Given the description of an element on the screen output the (x, y) to click on. 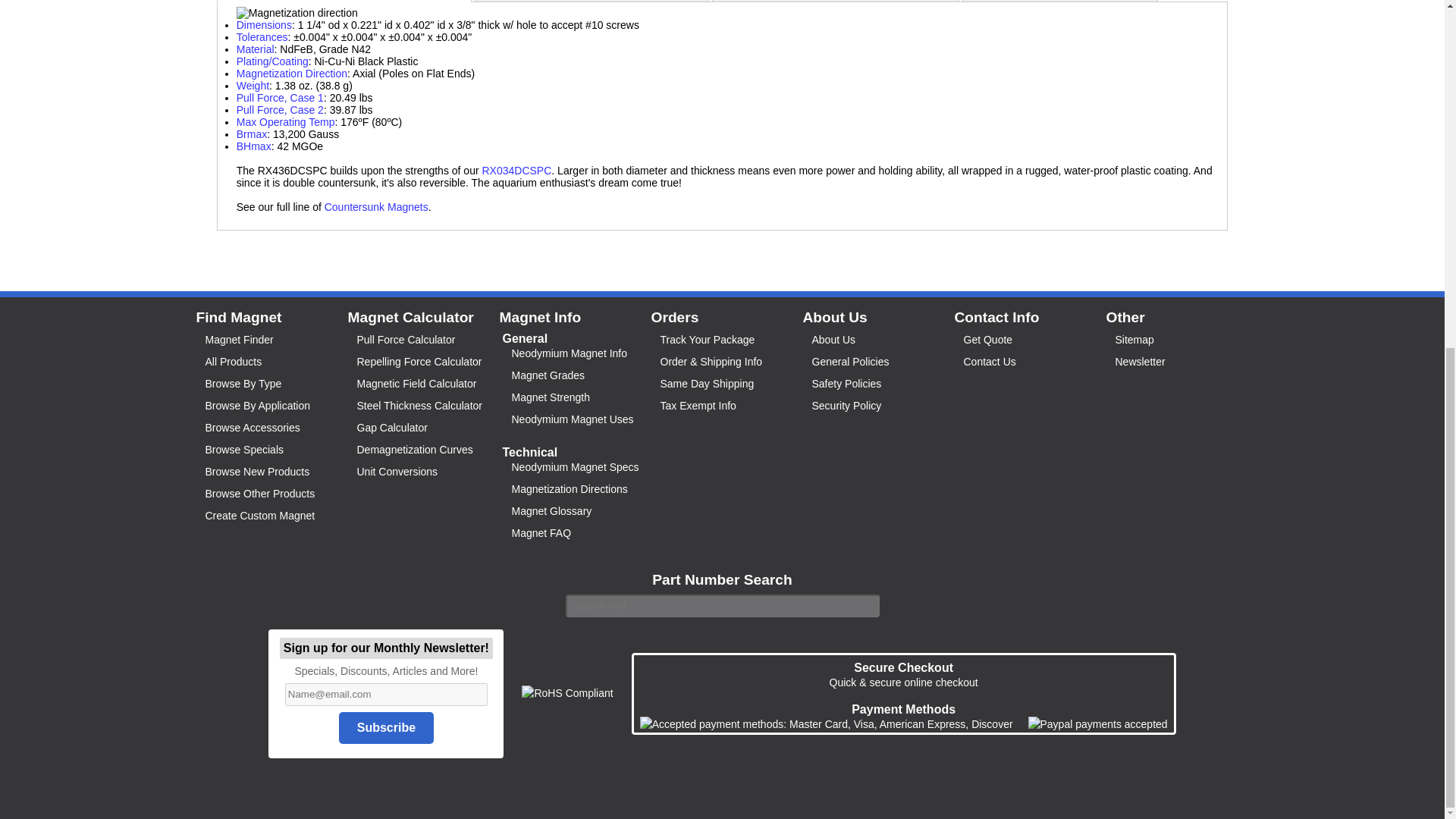
RoHS Compliant (566, 693)
Subscribe (386, 727)
Learn more about online orders (827, 724)
Learn more about online orders (1097, 724)
